Given the description of an element on the screen output the (x, y) to click on. 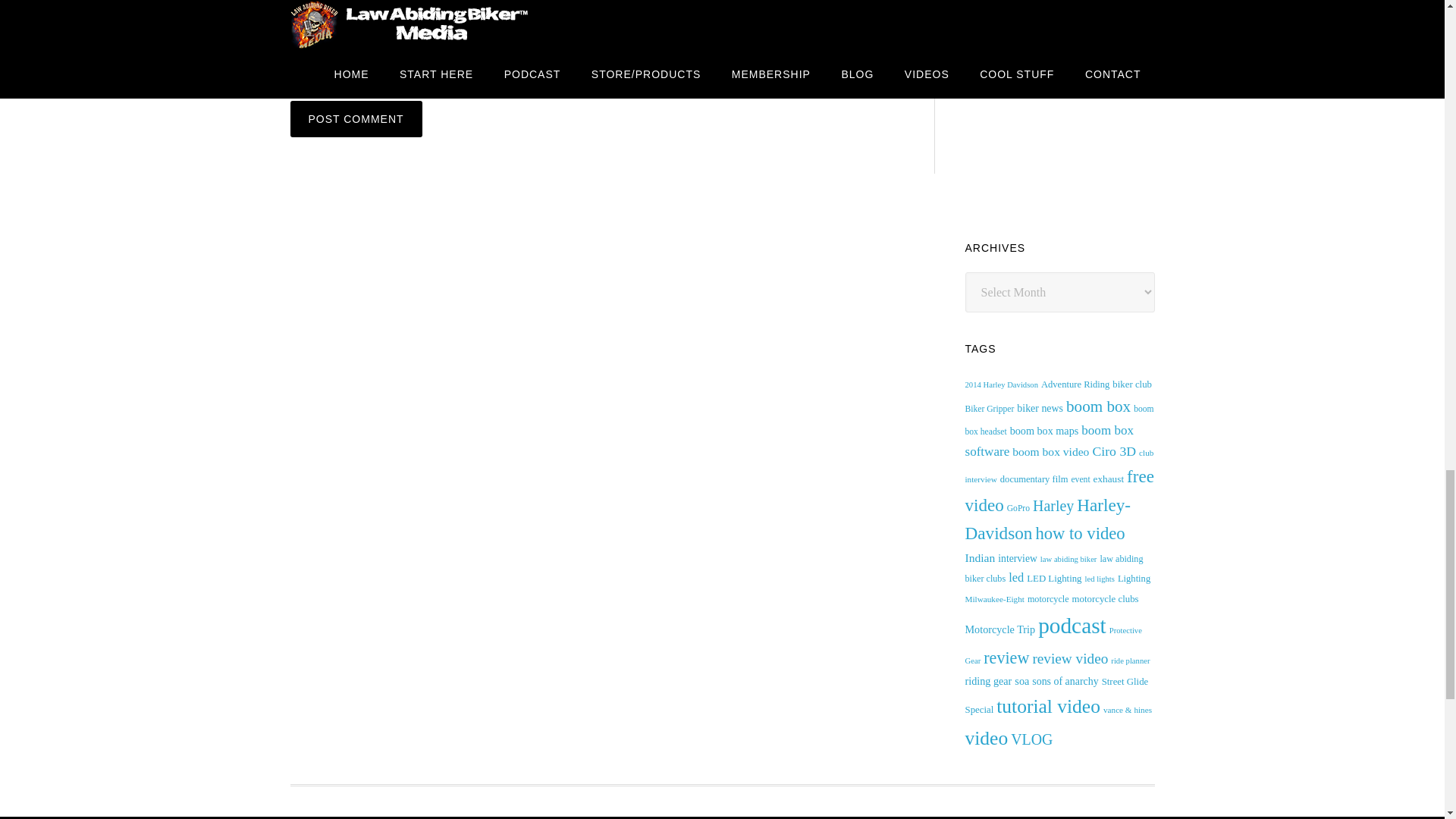
Post Comment (355, 118)
Advertisement (1077, 110)
